Given the description of an element on the screen output the (x, y) to click on. 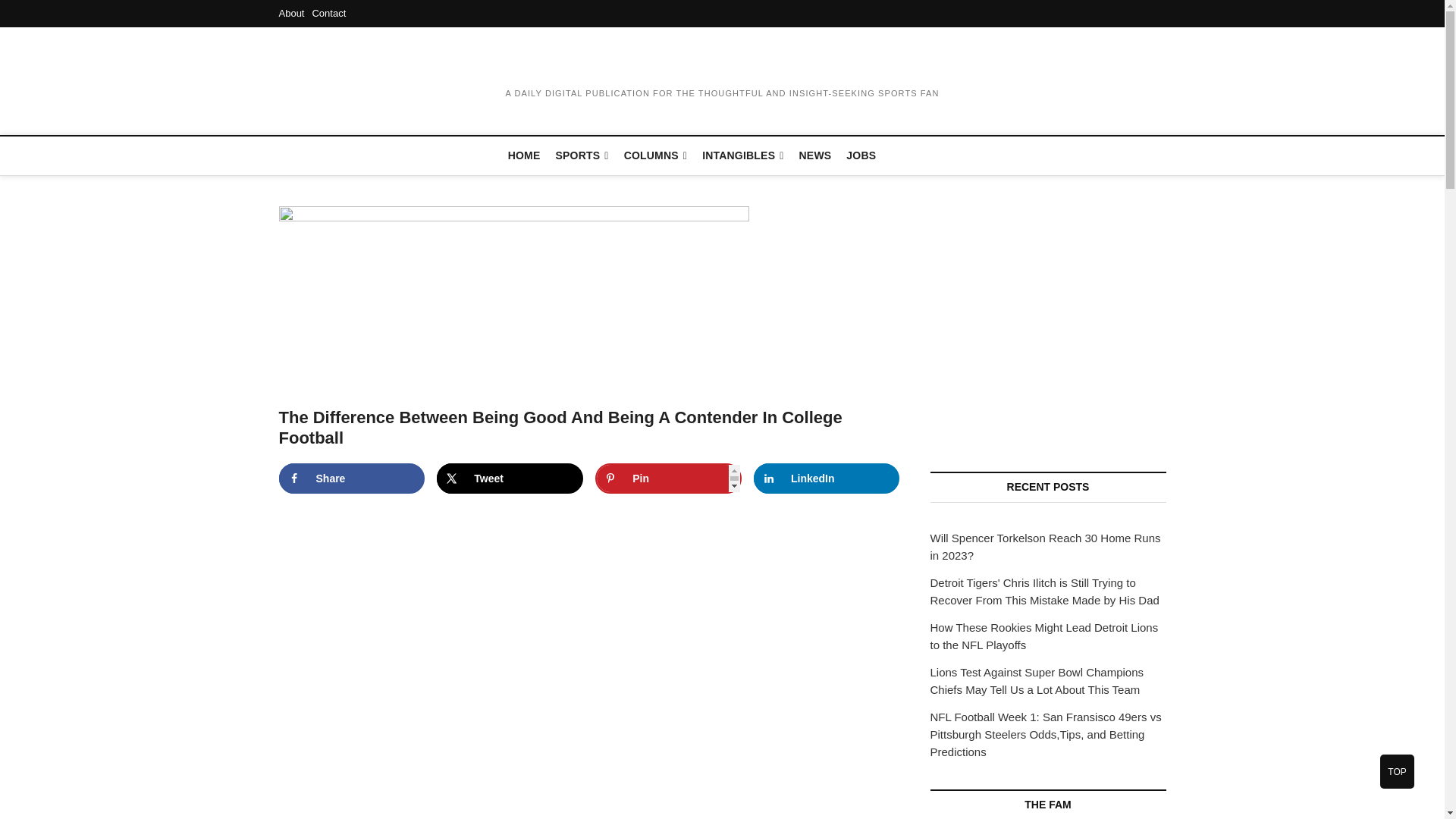
Save to Pinterest (668, 478)
Tweet (509, 478)
INTANGIBLES (742, 155)
Share on LinkedIn (826, 478)
Share on X (509, 478)
NEWS (816, 155)
JOBS (860, 155)
SPORTS (581, 155)
Share (352, 478)
COLUMNS (655, 155)
